Given the description of an element on the screen output the (x, y) to click on. 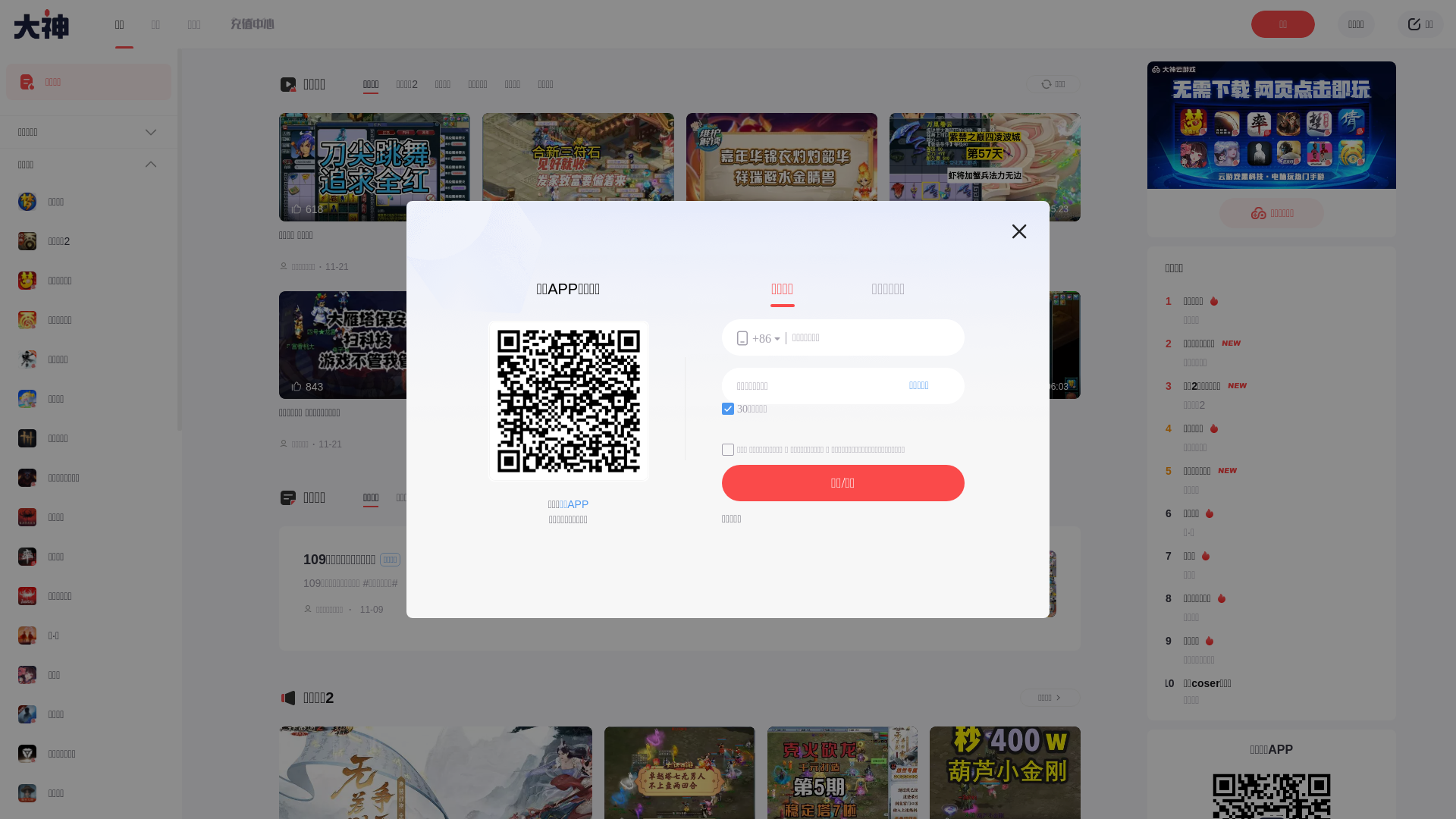
364 Element type: text (510, 386)
618 Element type: text (307, 209)
637 Element type: text (713, 209)
843 Element type: text (307, 386)
1019 Element type: text (920, 209)
485 Element type: text (713, 386)
16 Element type: text (423, 609)
854 Element type: text (917, 386)
11 Element type: text (478, 609)
462 Element type: text (510, 209)
